Given the description of an element on the screen output the (x, y) to click on. 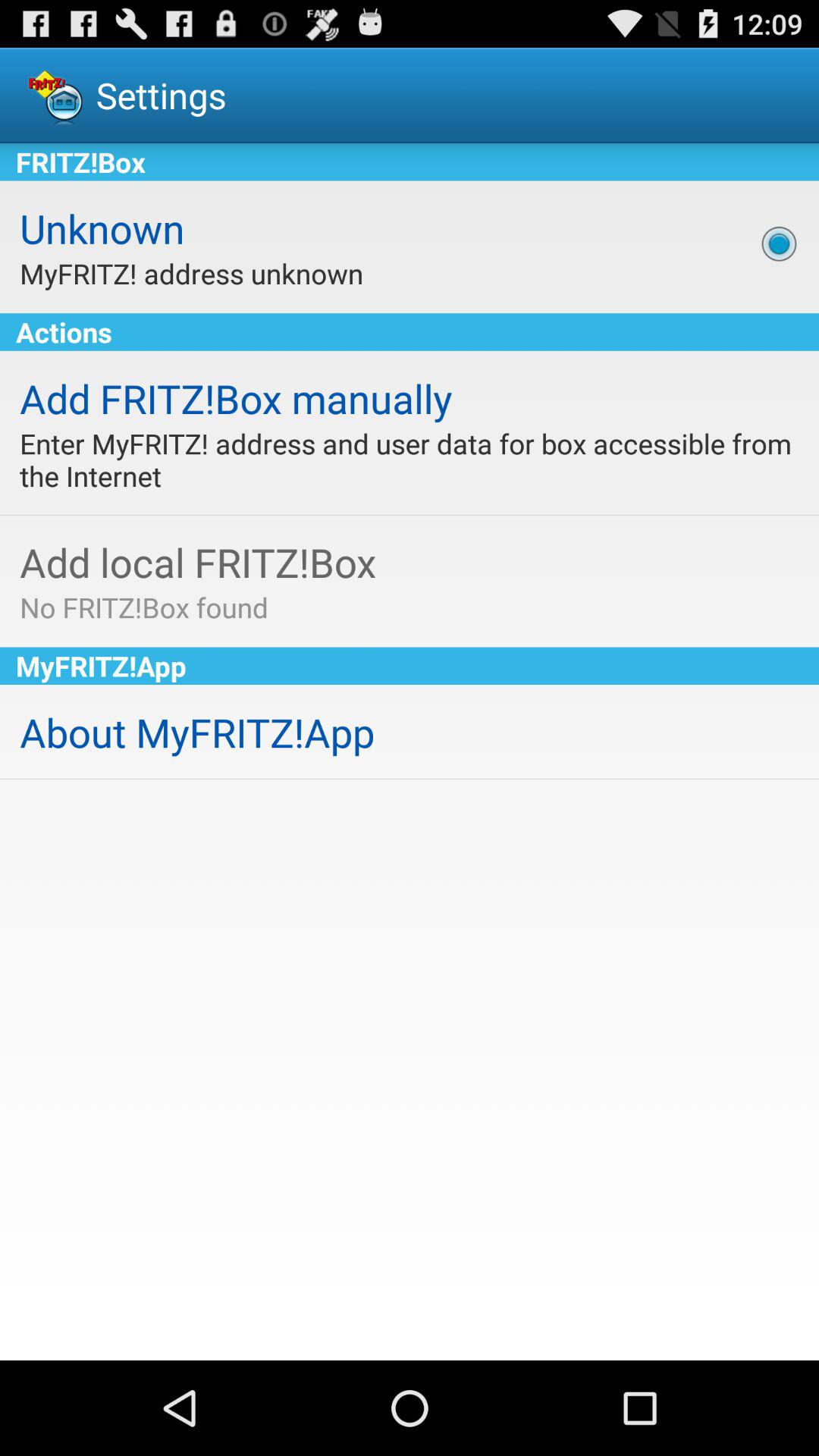
tap the item below the myfritz! address unknown (409, 331)
